Given the description of an element on the screen output the (x, y) to click on. 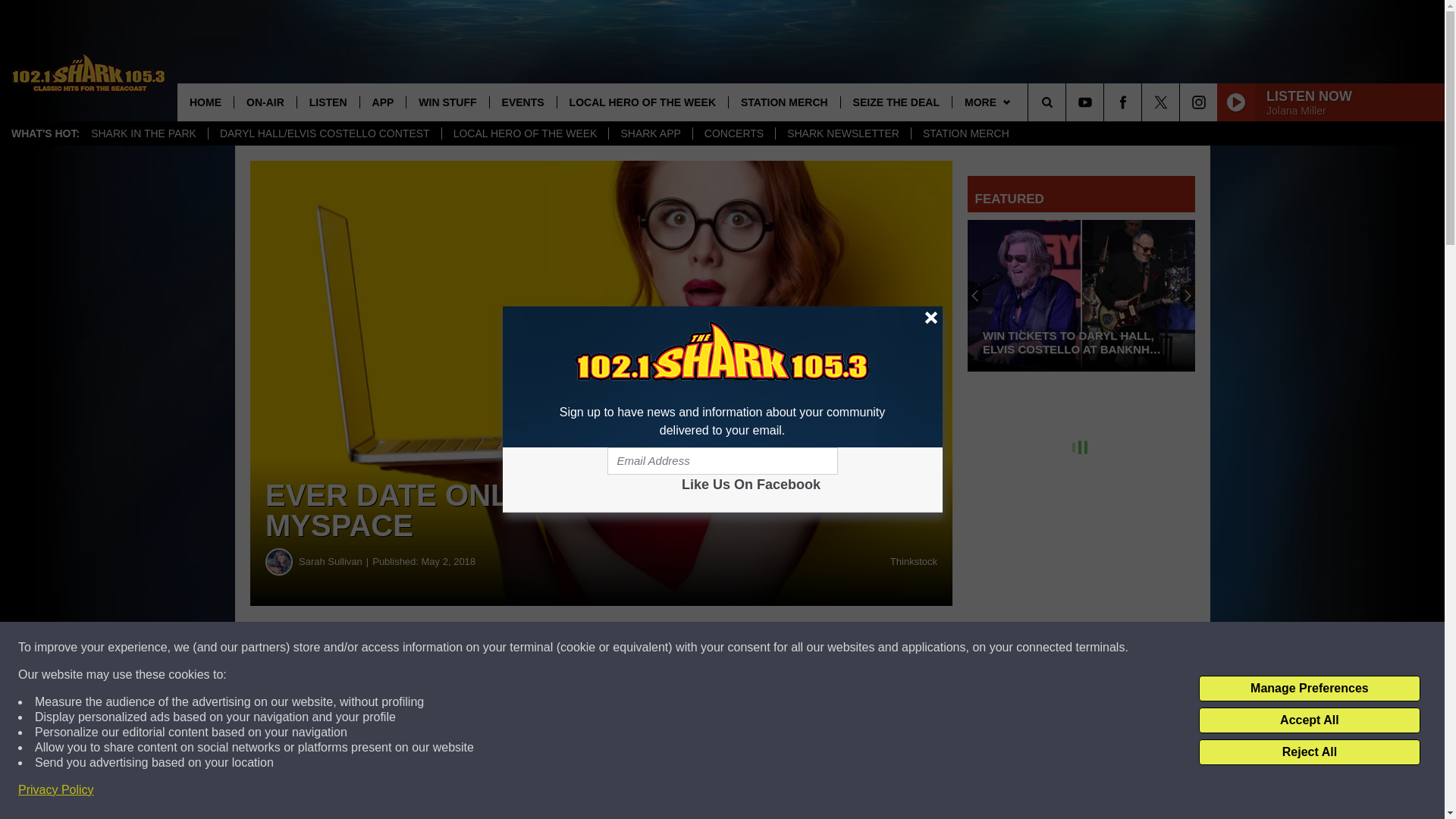
SHARK IN THE PARK (144, 133)
APP (382, 102)
WIN STUFF (446, 102)
Email Address (722, 461)
Manage Preferences (1309, 688)
Privacy Policy (55, 789)
EVENTS (522, 102)
SEARCH (1068, 102)
SEARCH (1068, 102)
ON-AIR (264, 102)
SHARK APP (649, 133)
LISTEN (328, 102)
Share on Twitter (741, 647)
HOME (204, 102)
SHARK NEWSLETTER (842, 133)
